Given the description of an element on the screen output the (x, y) to click on. 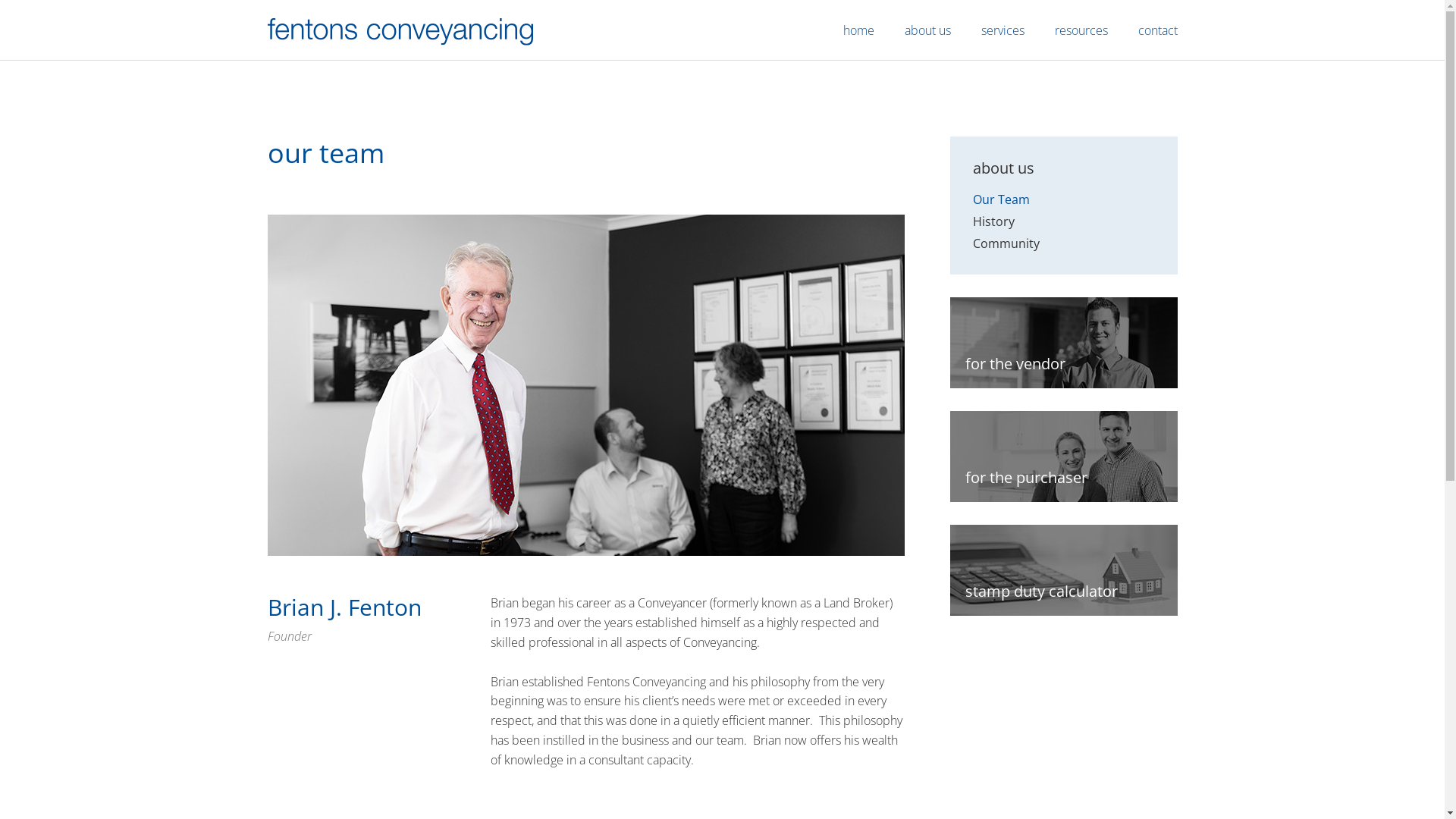
Our Team Element type: text (1000, 199)
home Element type: text (858, 30)
History Element type: text (992, 221)
for the vendor Element type: text (1062, 342)
contact Element type: text (1156, 30)
services Element type: text (1002, 30)
stamp duty calculator Element type: text (1062, 569)
resources Element type: text (1080, 30)
about us Element type: text (926, 30)
for the purchaser Element type: text (1062, 456)
Community Element type: text (1005, 243)
